Given the description of an element on the screen output the (x, y) to click on. 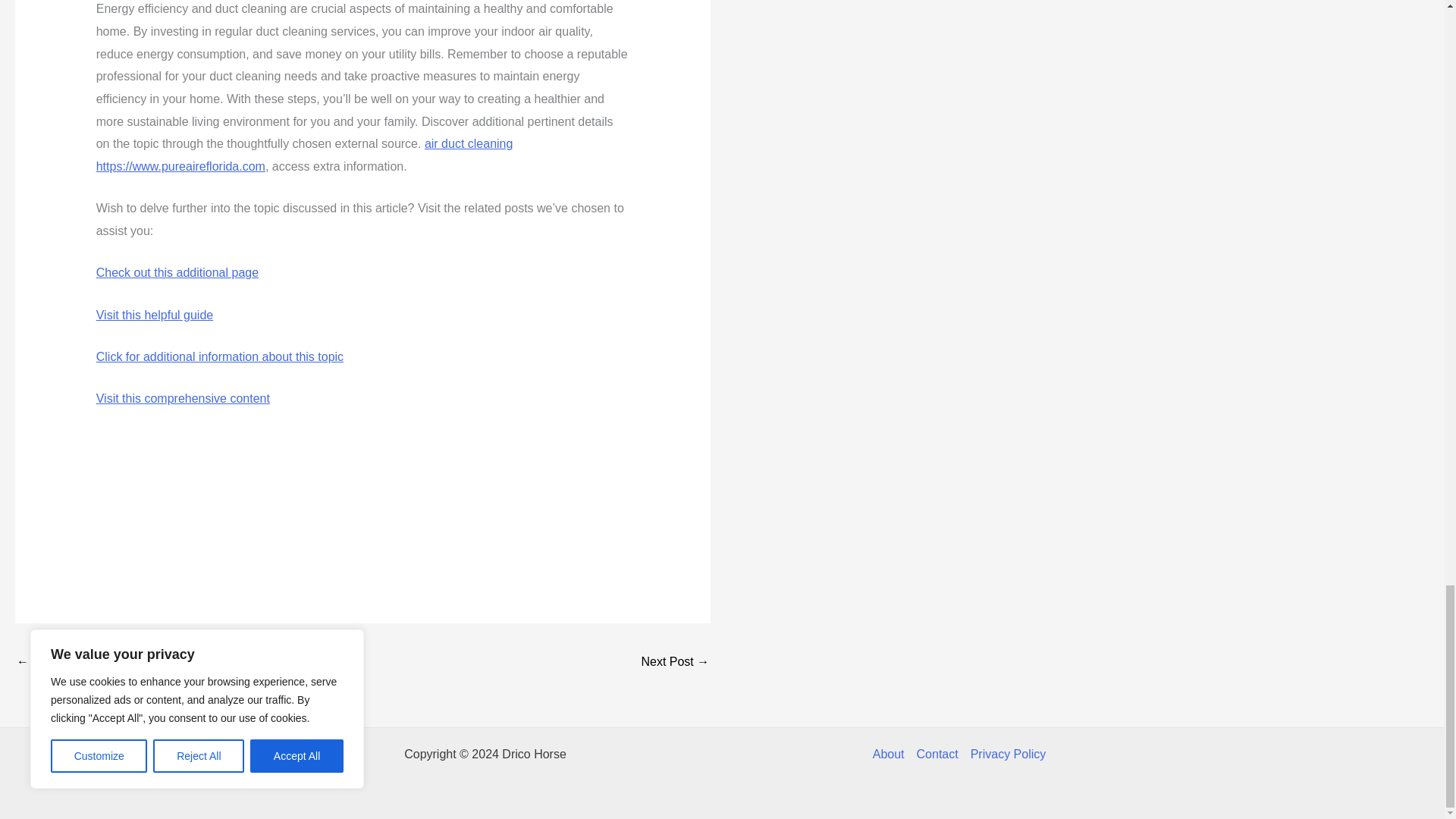
Visit this comprehensive content (182, 398)
Click for additional information about this topic (219, 356)
Buying and Selling Cryptocurrencies in Turkey (61, 663)
Visit this helpful guide (154, 314)
Check out this additional page (177, 272)
The Benefits of Secure Online Money Transfer Services (674, 663)
